Given the description of an element on the screen output the (x, y) to click on. 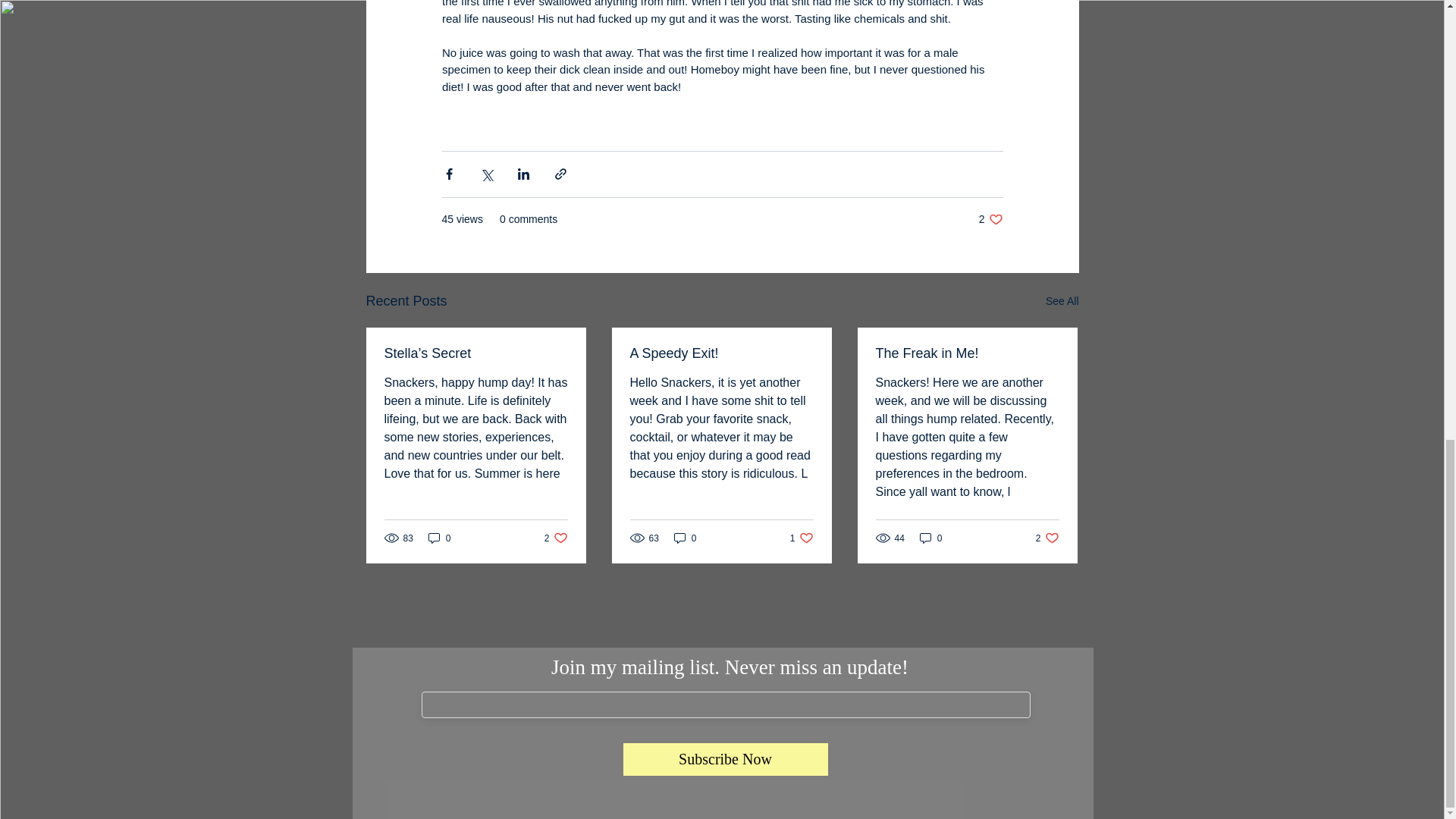
0 (555, 537)
A Speedy Exit! (685, 537)
0 (1047, 537)
0 (720, 352)
The Freak in Me! (930, 537)
See All (439, 537)
Subscribe Now (966, 352)
